Given the description of an element on the screen output the (x, y) to click on. 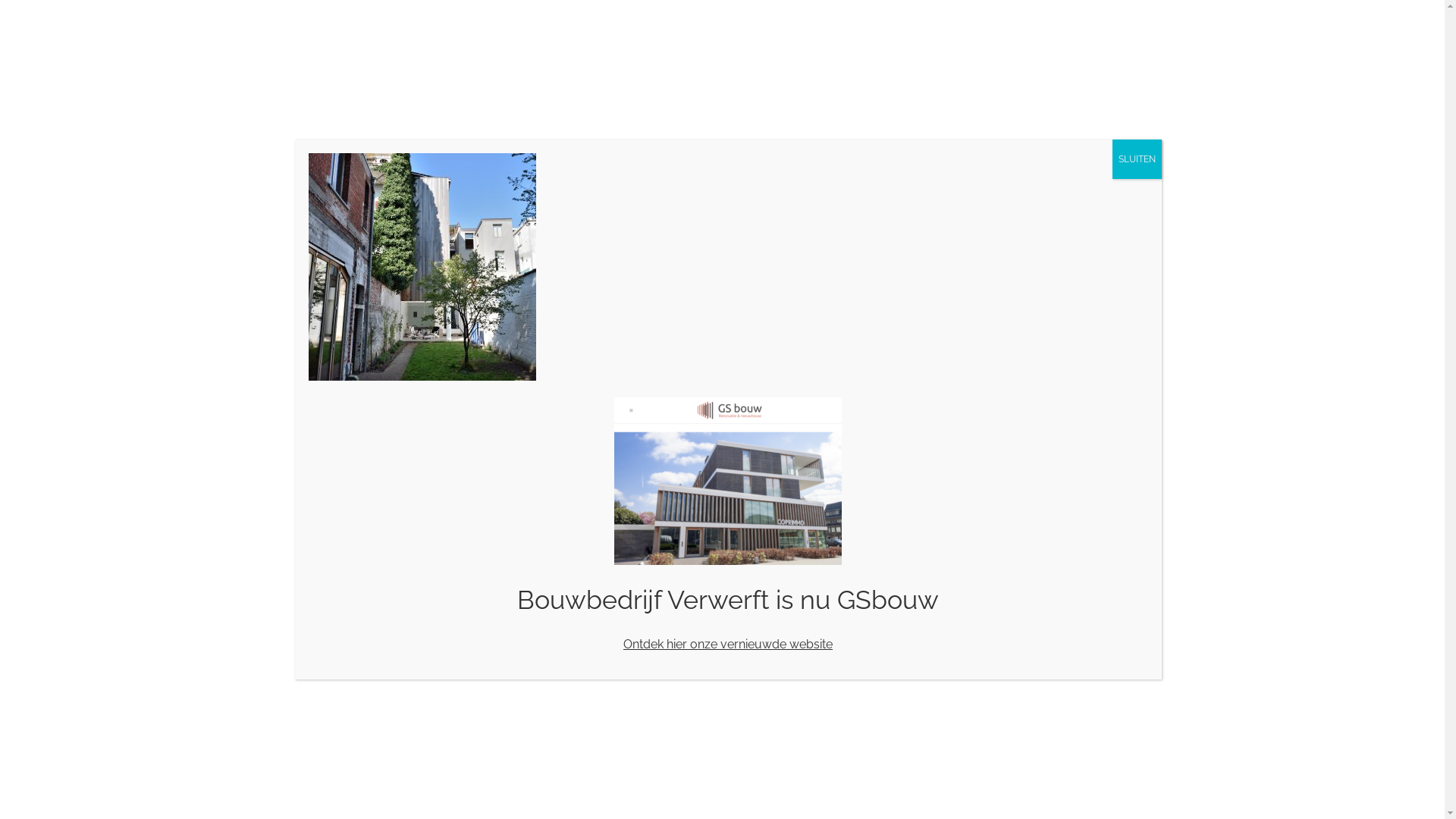
03 829 01 85 Element type: text (373, 593)
HOME Element type: text (642, 68)
SLUITEN Element type: text (1136, 158)
NIEUWBOUW Element type: text (713, 68)
Ontdek hier onze vernieuwde website Element type: text (727, 644)
CONTACT Element type: text (1059, 68)
INTERIEURINRICHTING Element type: text (903, 68)
RETAIL Element type: text (997, 68)
Zoeken Element type: hover (1109, 68)
info@bouwbedrijfverwerft.be Element type: text (399, 609)
info@bouwbedrijfverwerft.be Element type: text (489, 18)
RENOVATIE Element type: text (797, 68)
